Given the description of an element on the screen output the (x, y) to click on. 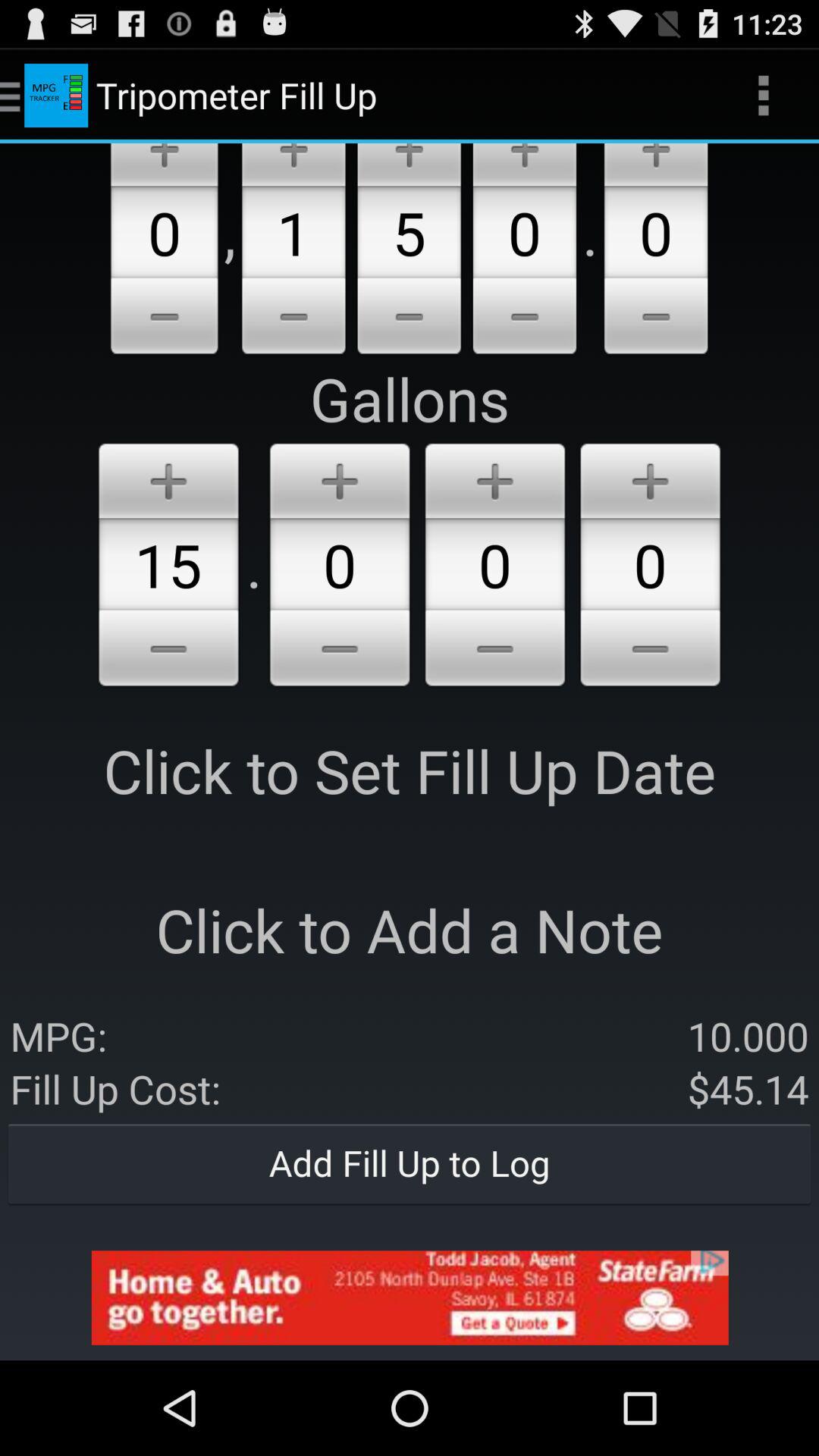
lower the number (655, 318)
